Given the description of an element on the screen output the (x, y) to click on. 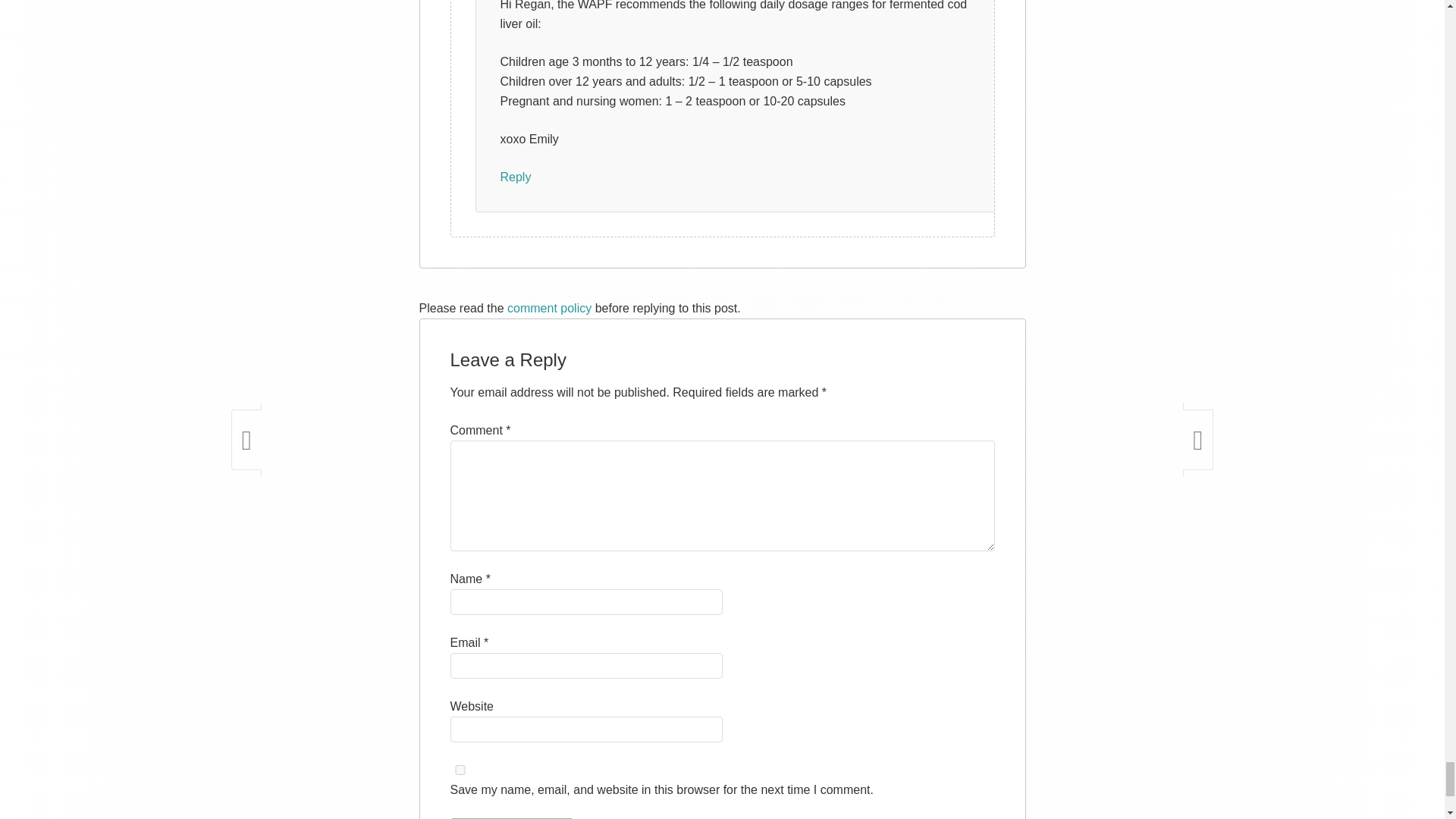
Comment Policy (548, 308)
yes (459, 769)
